Given the description of an element on the screen output the (x, y) to click on. 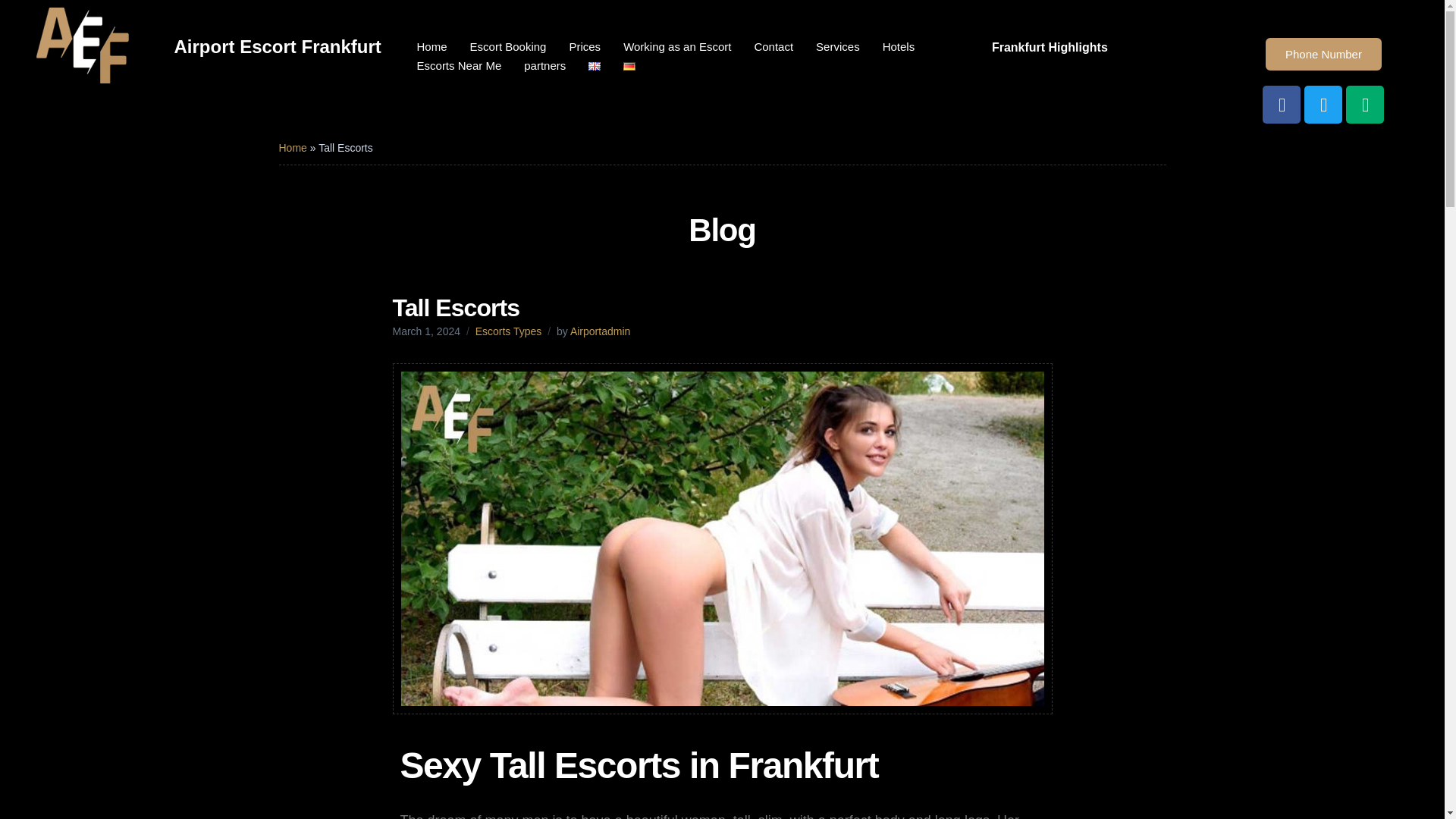
Frankfurt Highlights (1052, 47)
Prices (584, 46)
partners (544, 66)
Working as an Escort (676, 46)
Escorts Near Me (459, 66)
Home (432, 46)
Airportadmin (600, 331)
Services (837, 46)
Home (293, 147)
Escorts Types (508, 331)
